Given the description of an element on the screen output the (x, y) to click on. 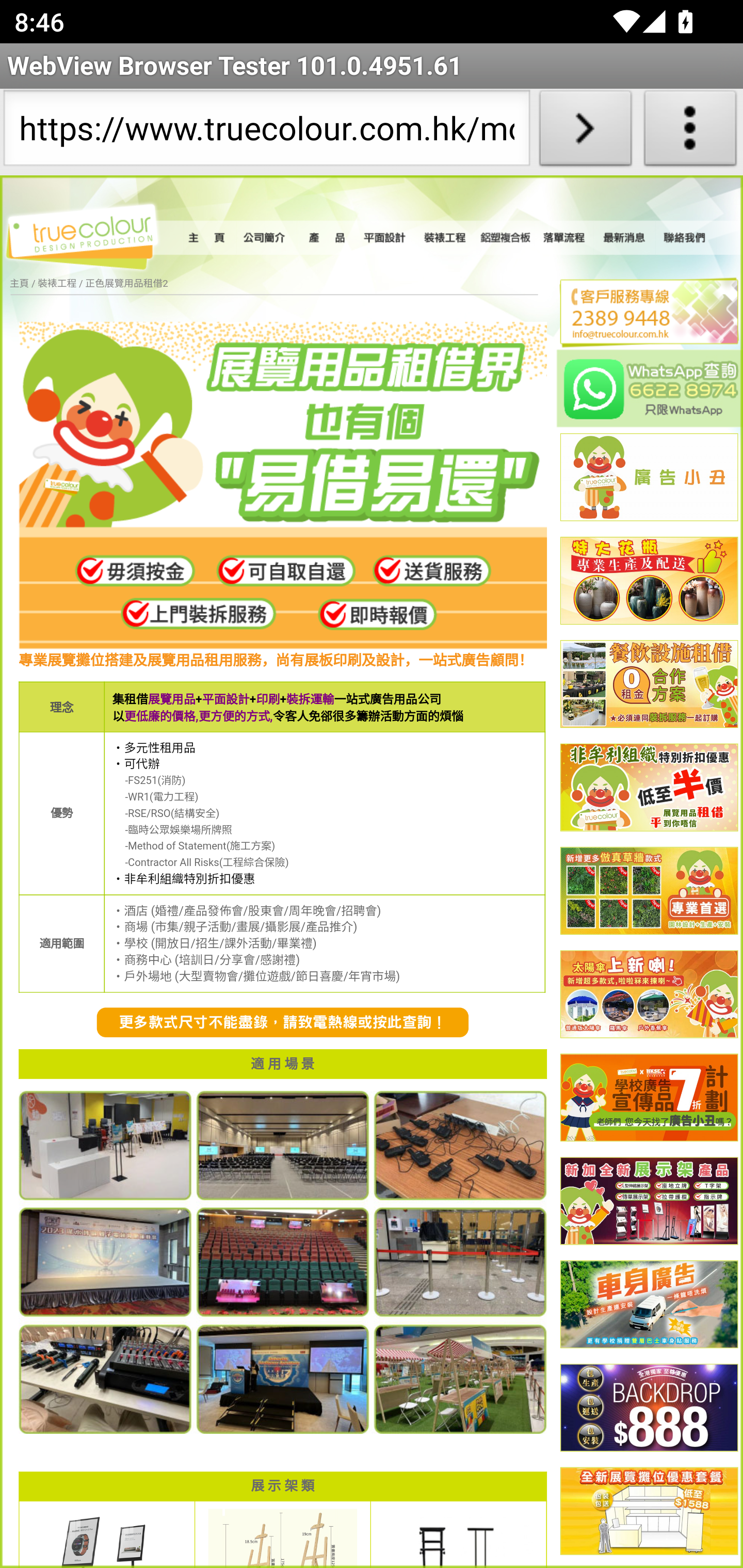
Load URL (585, 132)
About WebView (690, 132)
true colour DESIGN PRODUCTION (92, 234)
主頁 (209, 238)
公司簡介 (266, 238)
產品 (326, 238)
稿件設計 (386, 238)
裝裱工程 (445, 238)
鋁塑板 (505, 238)
落單流程 (564, 238)
最新清息 (624, 238)
聯絡我們 (685, 238)
WhatsApp (649, 388)
%E8%8A%B1%E7%93%B6%E5%B0%8F1 (648, 581)
%E9%A4%90%E9%A3%B2banner%E5%B0%8F (648, 684)
%E9%9D%9E%E7%89%9F%E5%88%A9 (648, 788)
banner-%E5%81%87%E8%8D%89%E6%96%B04 (648, 891)
%E5%A4%AA%E9%99%BD%E5%82%982 (648, 994)
contactus (282, 1022)
banner%E5%AD%B8%E6%A0%A1%E6%96%B0 (648, 1098)
%E5%B1%95%E7%A4%BA%E6%9E%B611 (648, 1201)
banner-%E8%BB%8A%E8%B2%BC1 (648, 1305)
banner-brodrop (648, 1408)
banner-%E5%B1%95%E6%9C%83 (648, 1512)
